Given the description of an element on the screen output the (x, y) to click on. 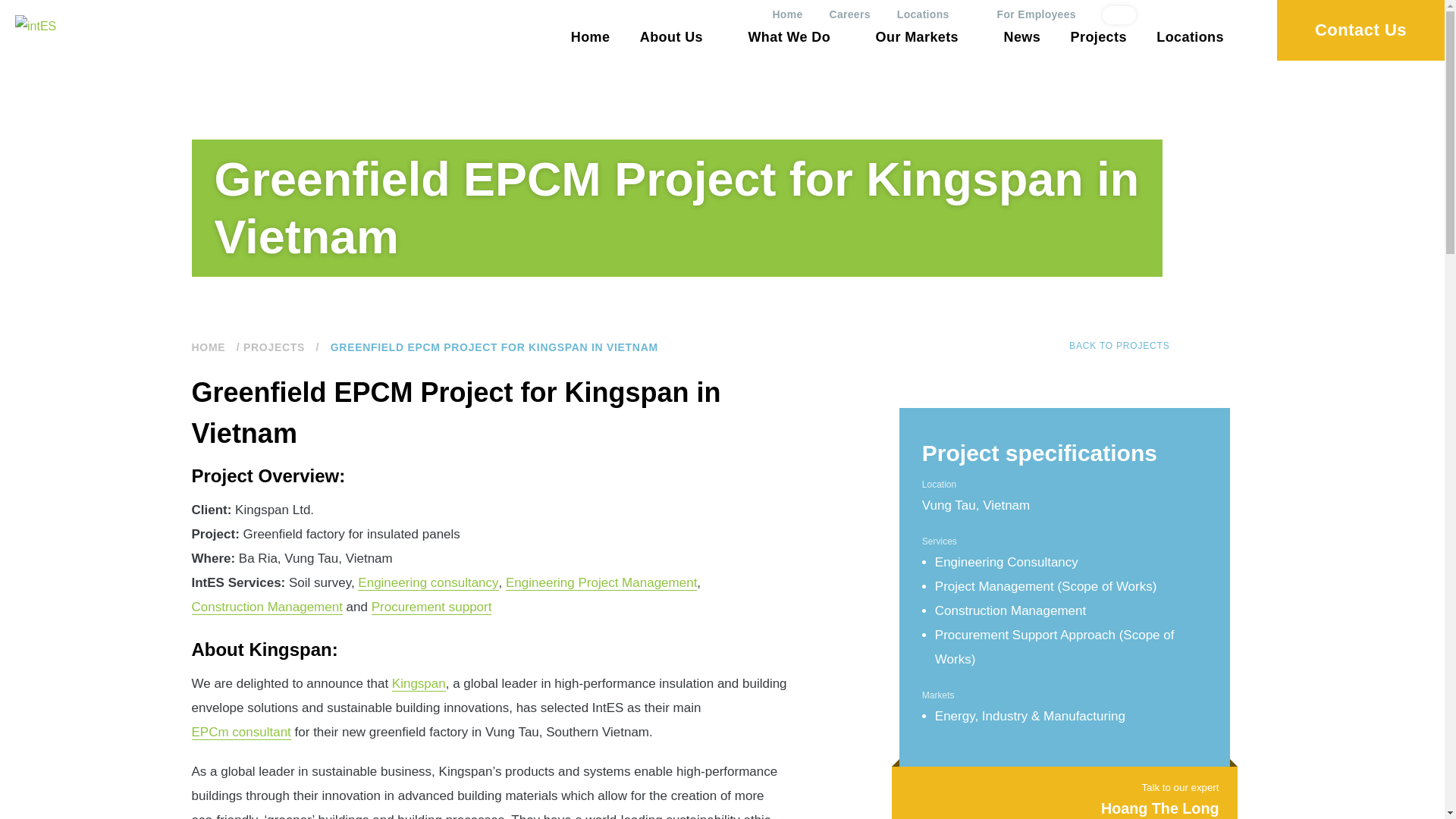
Careers (849, 14)
What We Do (796, 37)
About Us (678, 37)
Home (590, 37)
Our Markets (925, 37)
Locations (933, 14)
For Employees (1036, 14)
Home (786, 14)
